Given the description of an element on the screen output the (x, y) to click on. 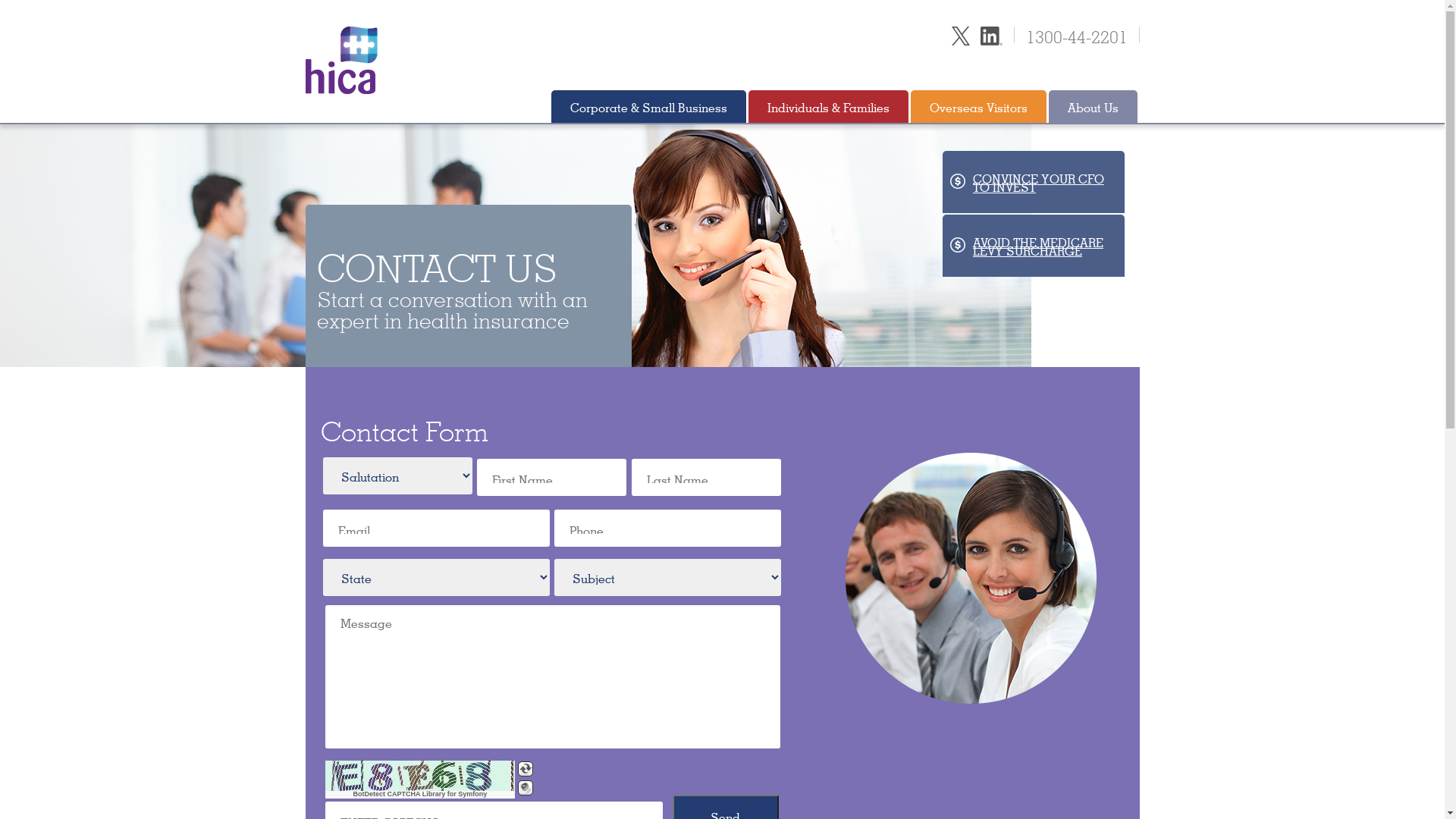
Corporate & Small Business Element type: text (647, 106)
Individuals & Families Element type: text (827, 106)
Speak the CAPTCHA code Element type: hover (525, 787)
BotDetect CAPTCHA Library for Symfony Element type: text (419, 794)
AVOID THE MEDICARE LEVY SURCHARGE Element type: text (1032, 245)
CONVINCE YOUR CFO TO INVEST Element type: text (1032, 181)
Overseas Visitors Element type: text (977, 106)
About Us Element type: text (1092, 106)
Change the CAPTCHA code Element type: hover (525, 768)
